Given the description of an element on the screen output the (x, y) to click on. 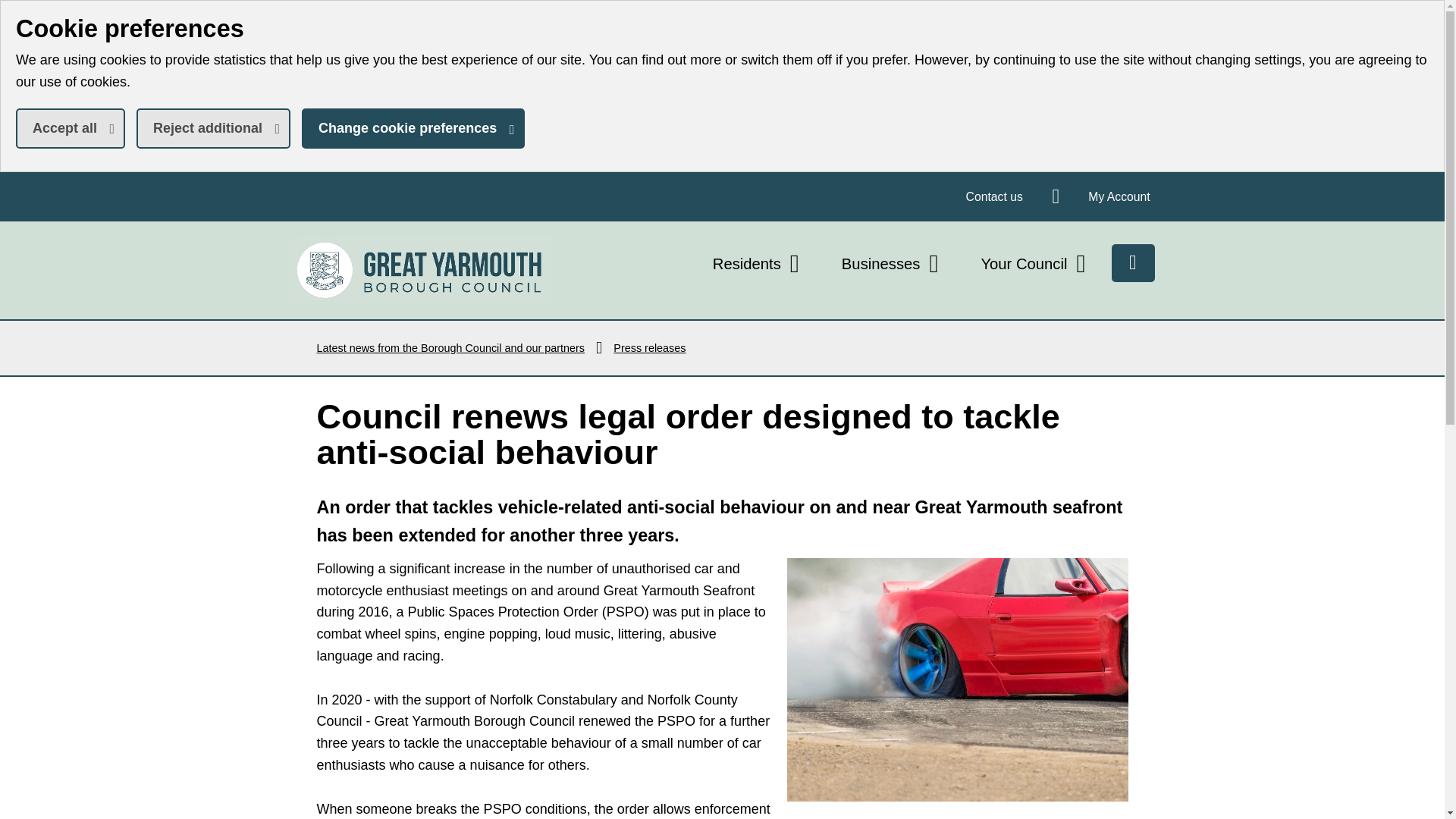
Accept all (70, 128)
Skip to main content (11, 11)
Reject additional (420, 270)
Change cookie preferences (212, 128)
Car PSPO (412, 128)
Residents (957, 679)
Contact us (757, 263)
My Account (994, 196)
